Given the description of an element on the screen output the (x, y) to click on. 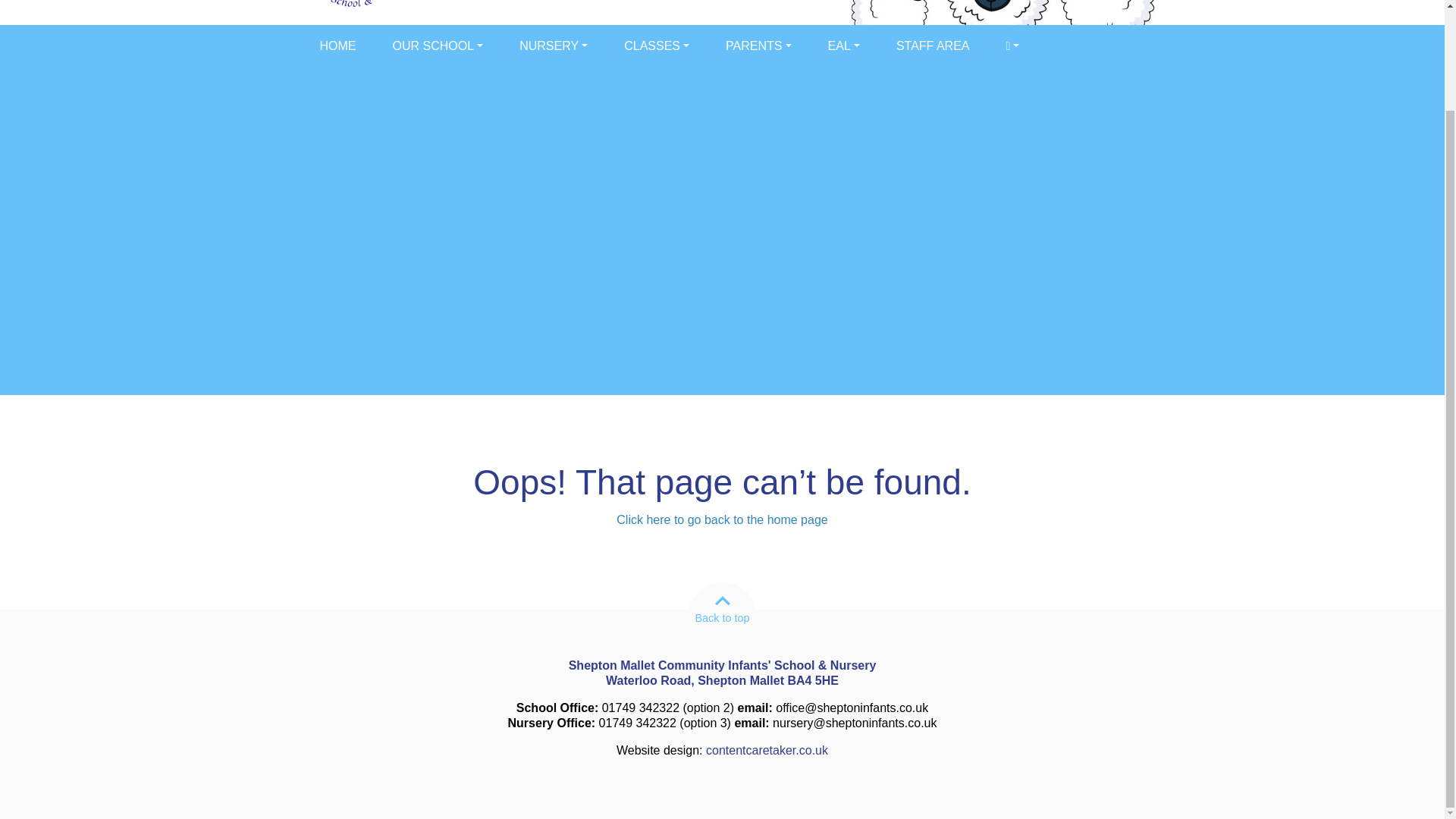
PARENTS (758, 46)
Home (337, 46)
NURSERY (552, 46)
HOME (337, 46)
CLASSES (656, 46)
OUR SCHOOL (438, 46)
Our School (438, 46)
